Given the description of an element on the screen output the (x, y) to click on. 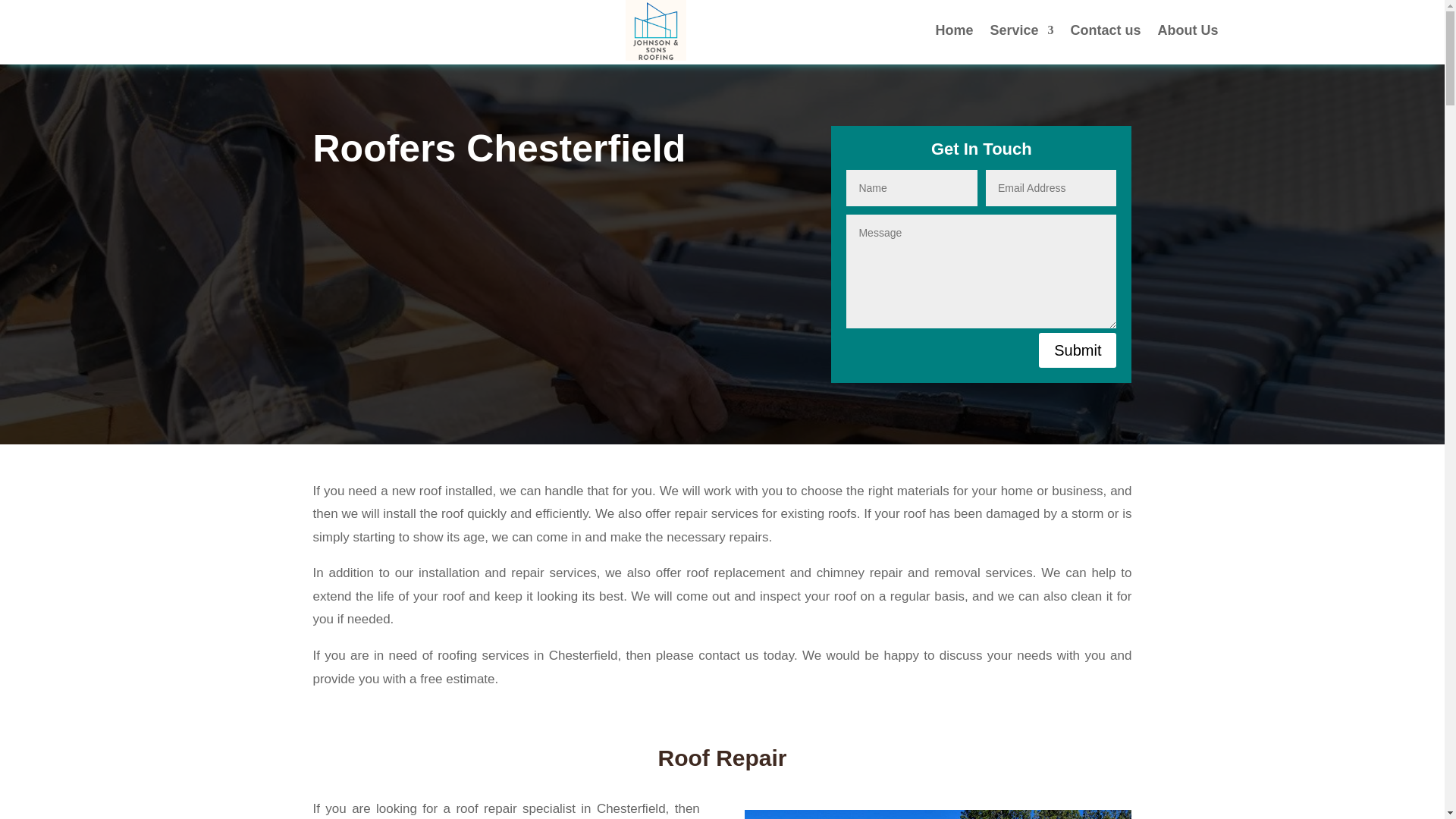
Submit (1077, 349)
About Us (1187, 30)
Service (1021, 30)
Contact us (1105, 30)
house-garage (937, 814)
